Given the description of an element on the screen output the (x, y) to click on. 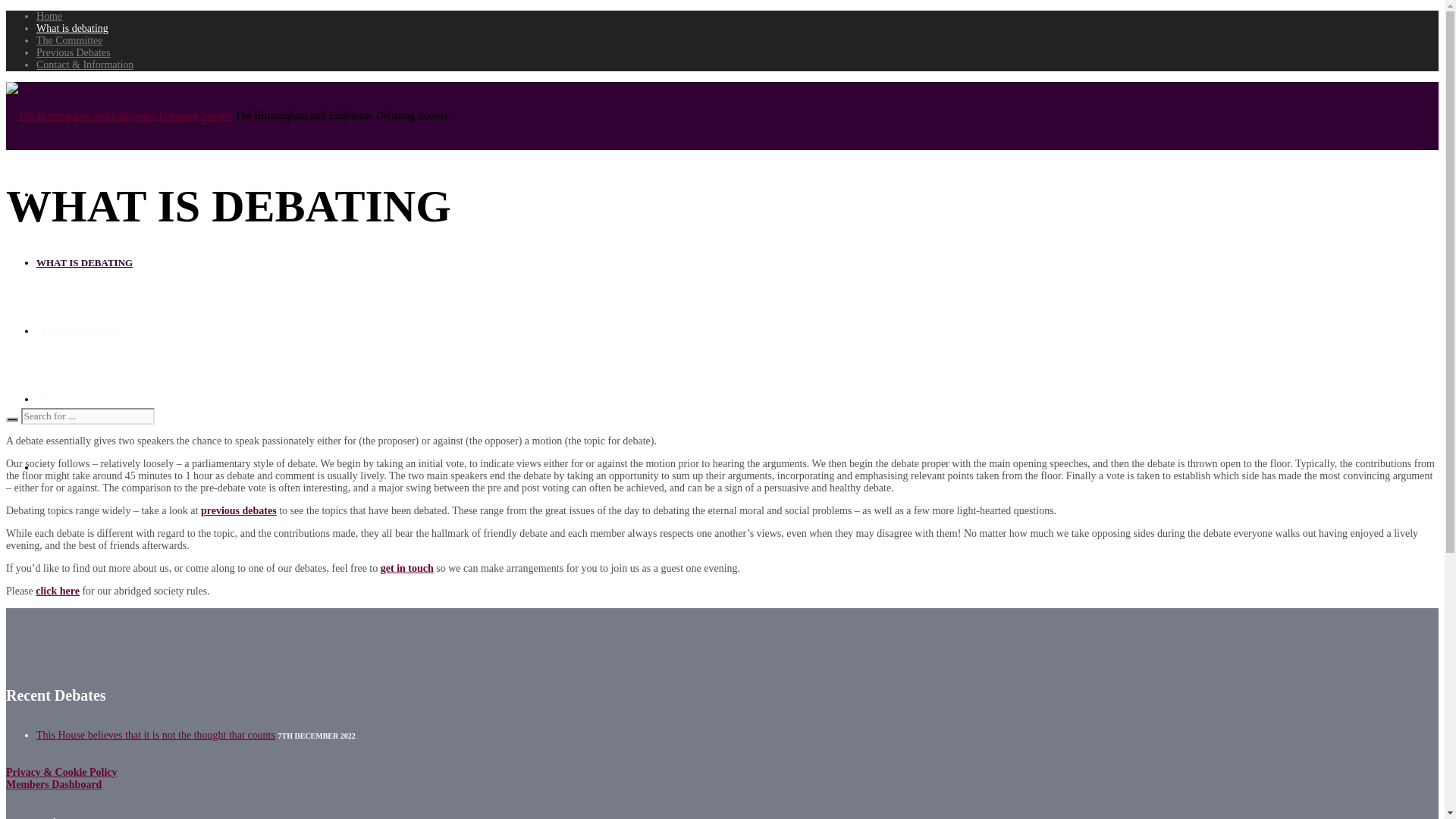
WHAT IS DEBATING (84, 262)
The Committee (68, 40)
previous debates (238, 510)
This House believes that it is not the thought that counts (155, 735)
HOME (51, 194)
click here (57, 591)
get in touch (406, 568)
Members Dashboard (53, 784)
Previous Debates (73, 52)
What is debating (71, 28)
